Given the description of an element on the screen output the (x, y) to click on. 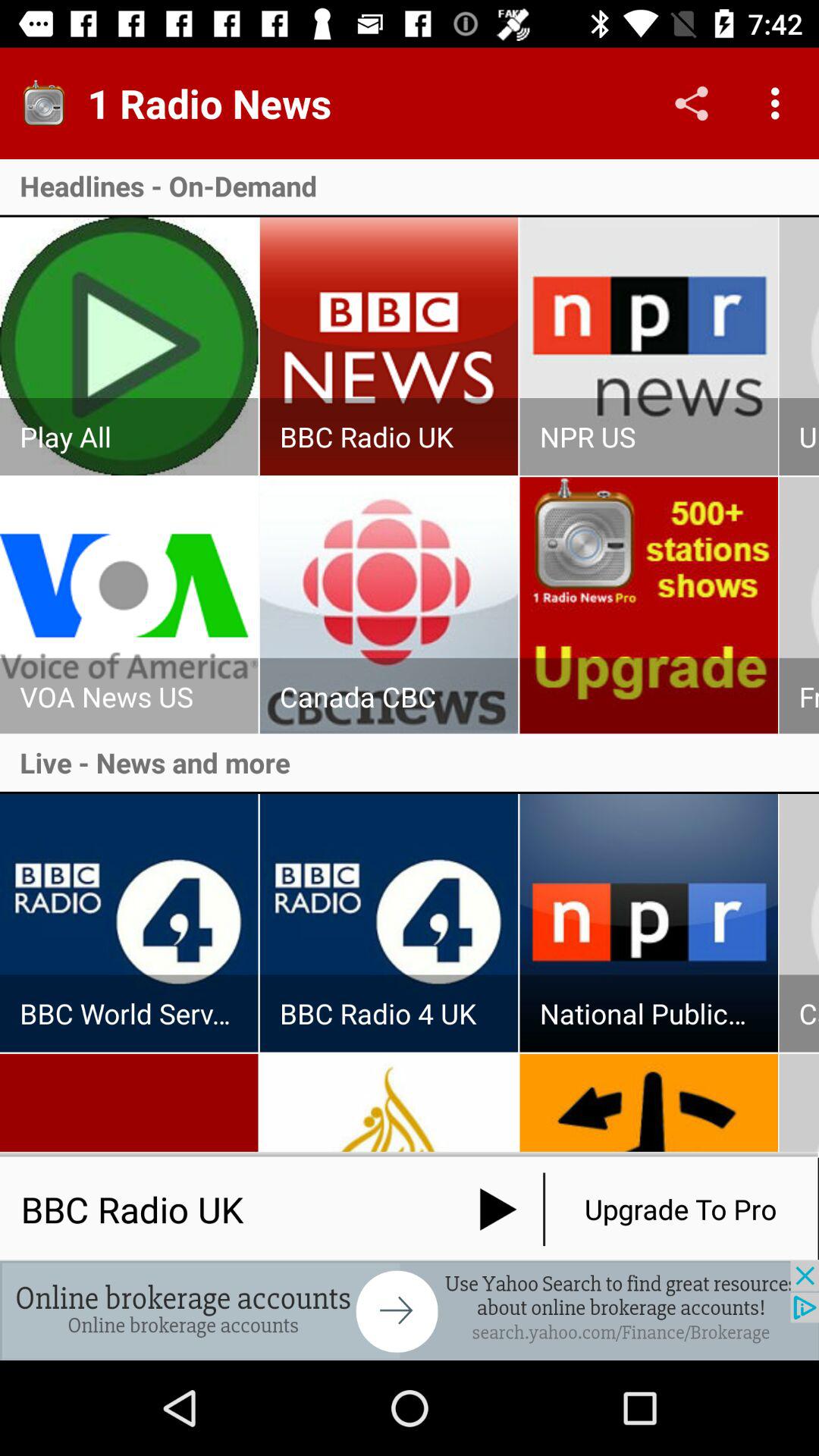
go to advertising site (409, 1310)
